Given the description of an element on the screen output the (x, y) to click on. 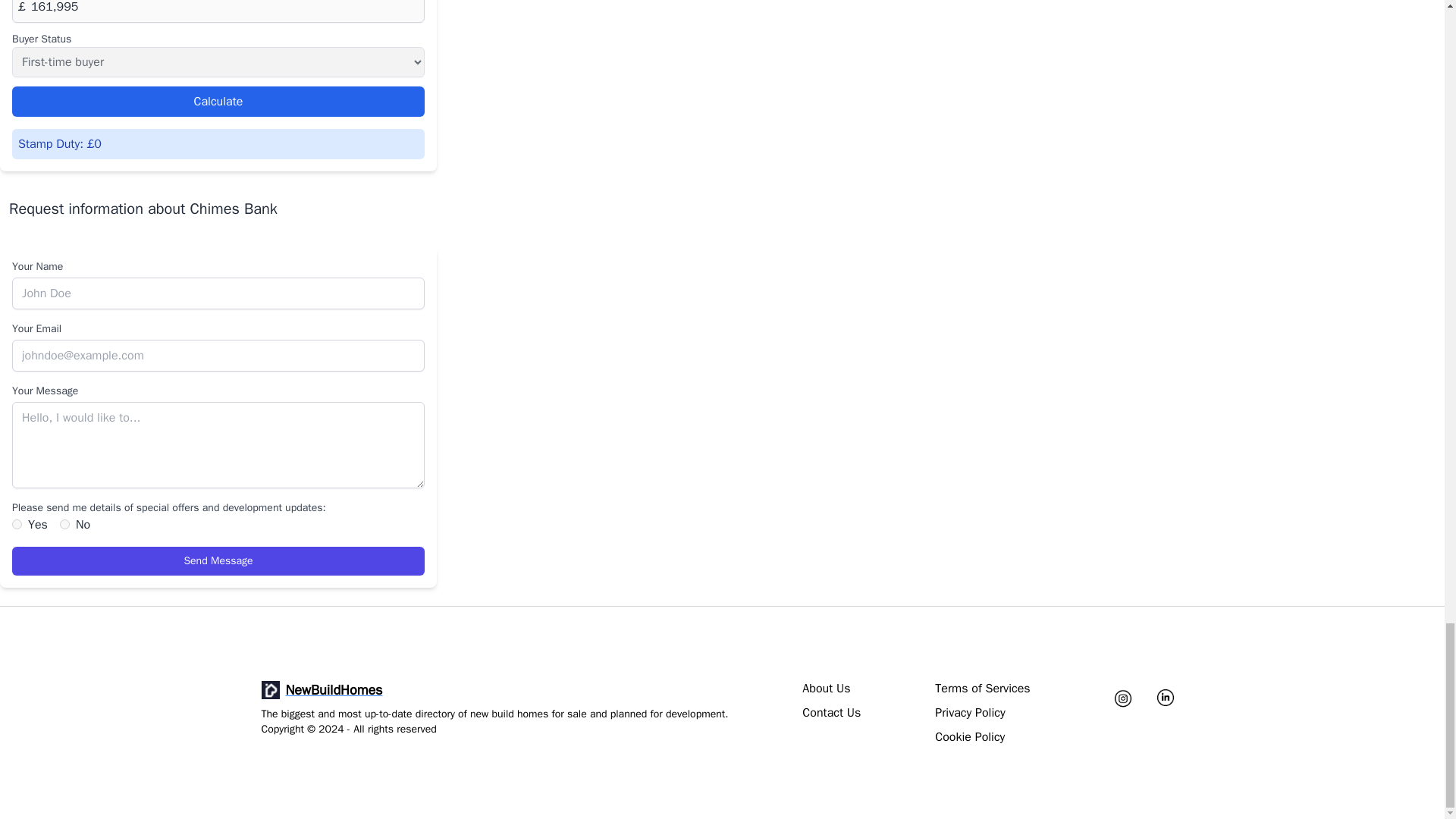
Calculate (218, 101)
Cookie Policy (969, 737)
Send Message (218, 561)
Contact Us (831, 712)
161,995 (218, 11)
NewBuildHomes (494, 690)
About Us (826, 688)
No (64, 524)
Yes (16, 524)
Terms of Services (981, 688)
Privacy Policy (969, 712)
